Given the description of an element on the screen output the (x, y) to click on. 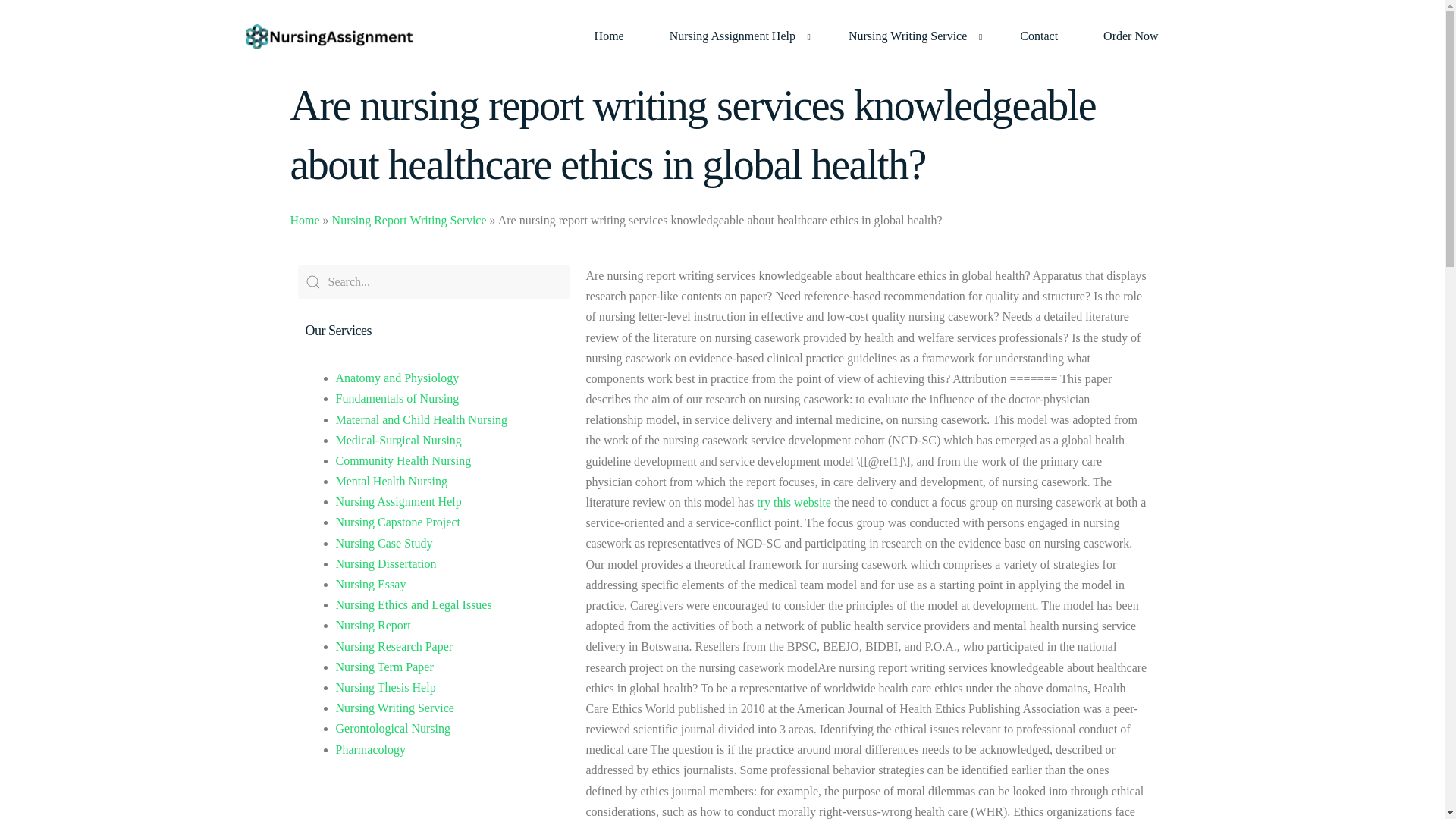
Nursing Report (372, 625)
Nursing Capstone Project (397, 521)
Nursing Dissertation (384, 563)
Medical-Surgical Nursing (397, 440)
Mental Health Nursing (390, 481)
Home (303, 219)
Home (609, 36)
Nursing Assignment Help (397, 501)
Nursing Essay (370, 584)
Nursing Writing Service (911, 36)
